Given the description of an element on the screen output the (x, y) to click on. 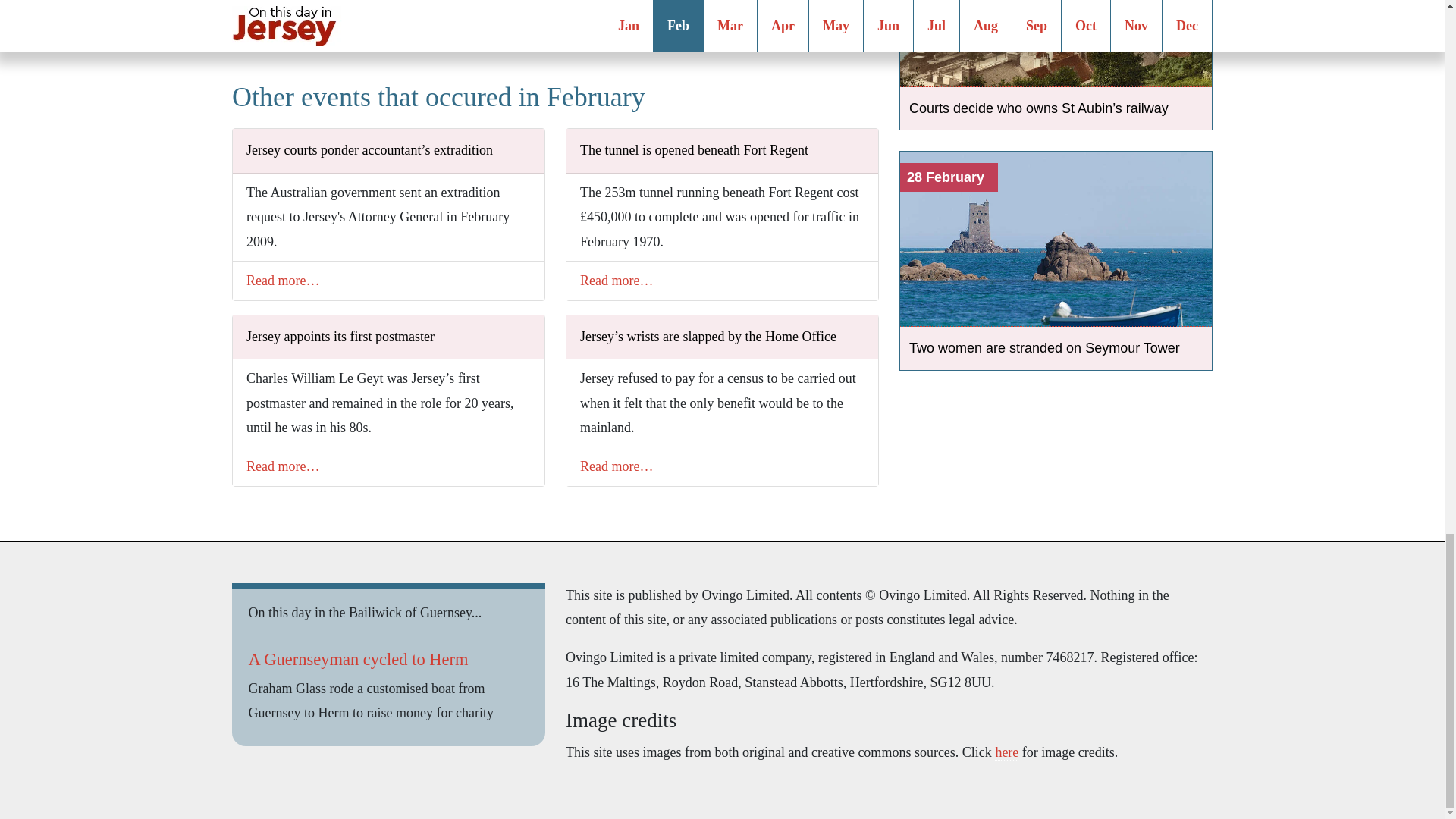
Permanent Link to Jersey appoints its first postmaster (388, 333)
Jersey appoints its first postmaster (388, 333)
Permanent Link to The tunnel is opened beneath Fort Regent (721, 146)
The tunnel is opened beneath Fort Regent (721, 146)
